Given the description of an element on the screen output the (x, y) to click on. 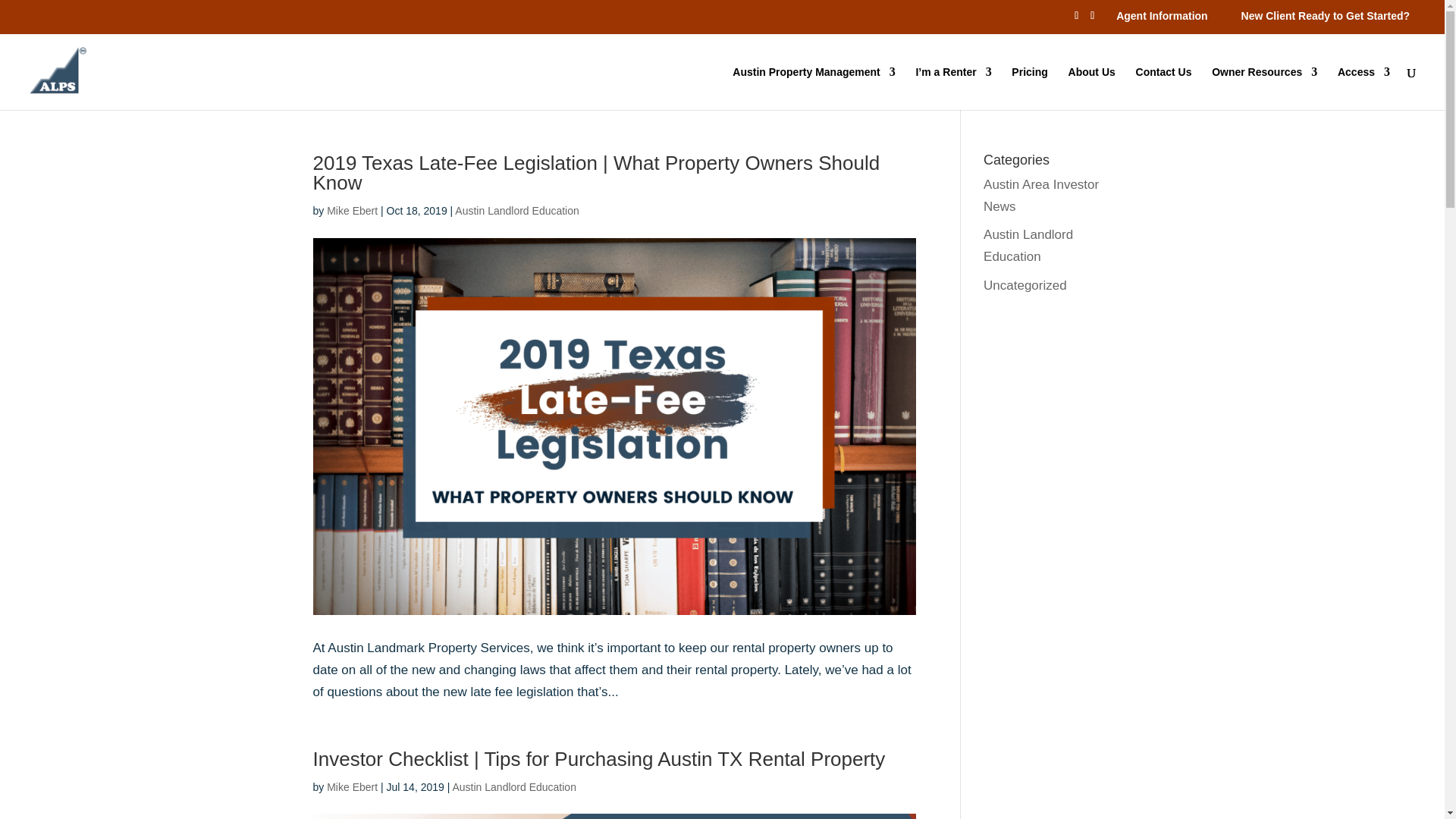
Posts by Mike Ebert (351, 787)
Access (1364, 87)
Owner Resources (1264, 87)
Austin Property Management (813, 87)
New Client Ready to Get Started? (1325, 14)
Contact Us (1163, 87)
Agent Information (1161, 14)
About Us (1091, 87)
Posts by Mike Ebert (351, 210)
